Given the description of an element on the screen output the (x, y) to click on. 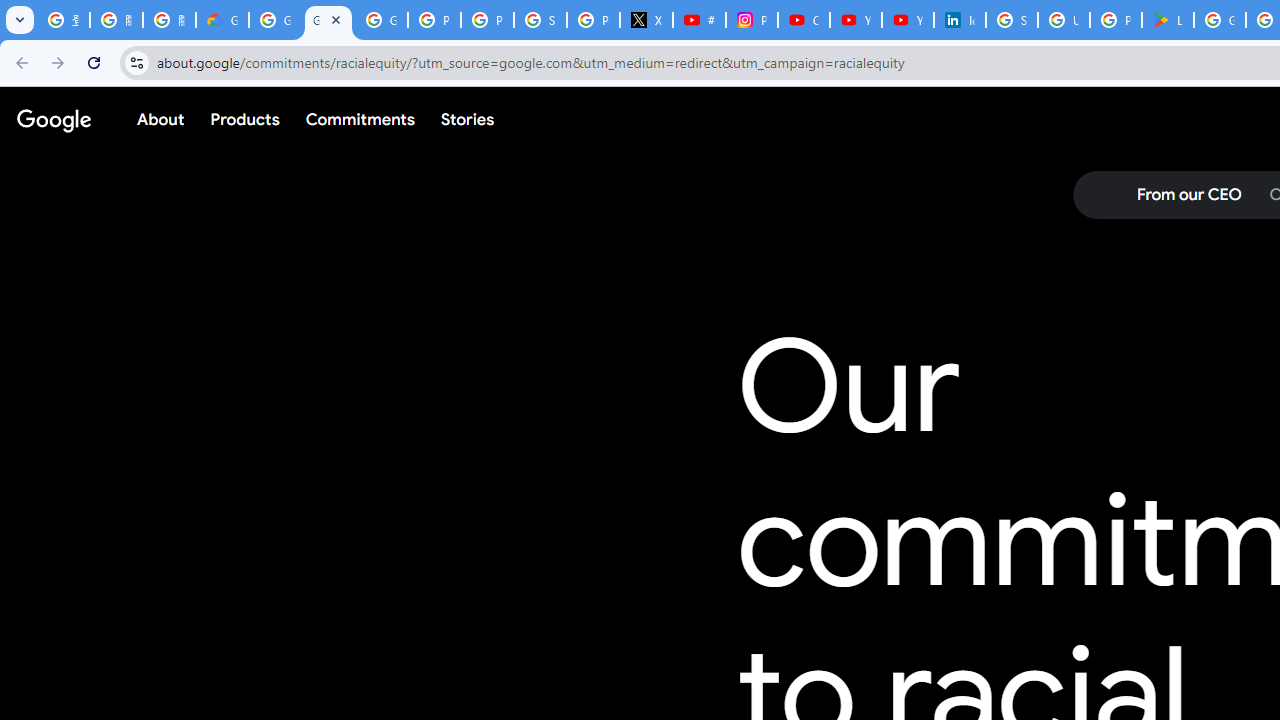
From our CEO: Jump to page section (1188, 195)
#nbabasketballhighlights - YouTube (699, 20)
Sign in - Google Accounts (1011, 20)
Identity verification via Persona | LinkedIn Help (959, 20)
